Given the description of an element on the screen output the (x, y) to click on. 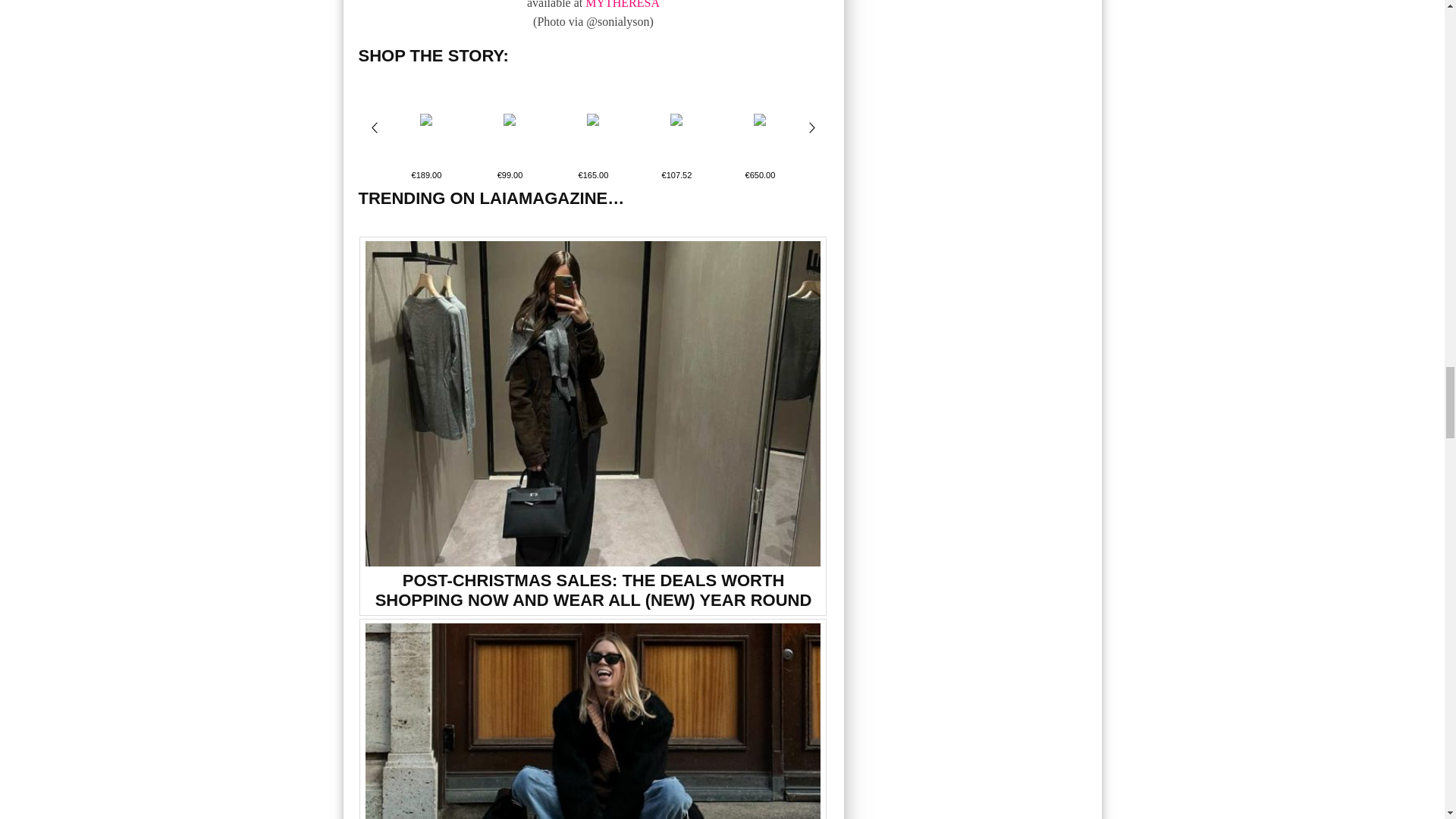
The winter outfits with jeans I plan on living in ASAP (593, 721)
MYTHERESA (622, 4)
